Given the description of an element on the screen output the (x, y) to click on. 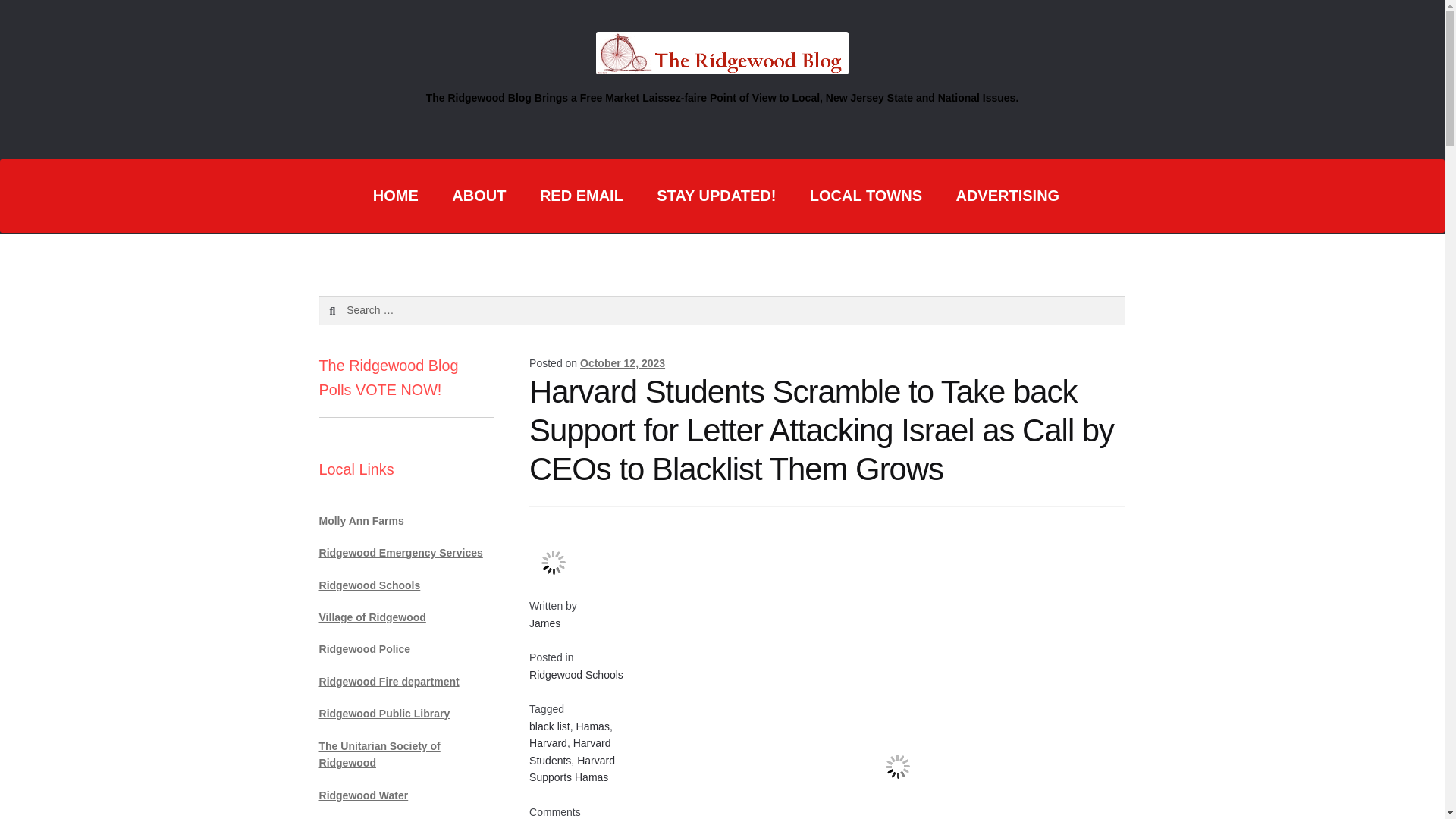
LOCAL TOWNS (865, 195)
Harvard Supports Hamas (571, 768)
RED EMAIL (581, 195)
LOCAL NJ Towns News (865, 195)
ABOUT (478, 195)
October 12, 2023 (622, 363)
Ridgewood Schools (576, 674)
black list (549, 726)
Harvard Students (569, 751)
ADVERTISING (1007, 195)
